Given the description of an element on the screen output the (x, y) to click on. 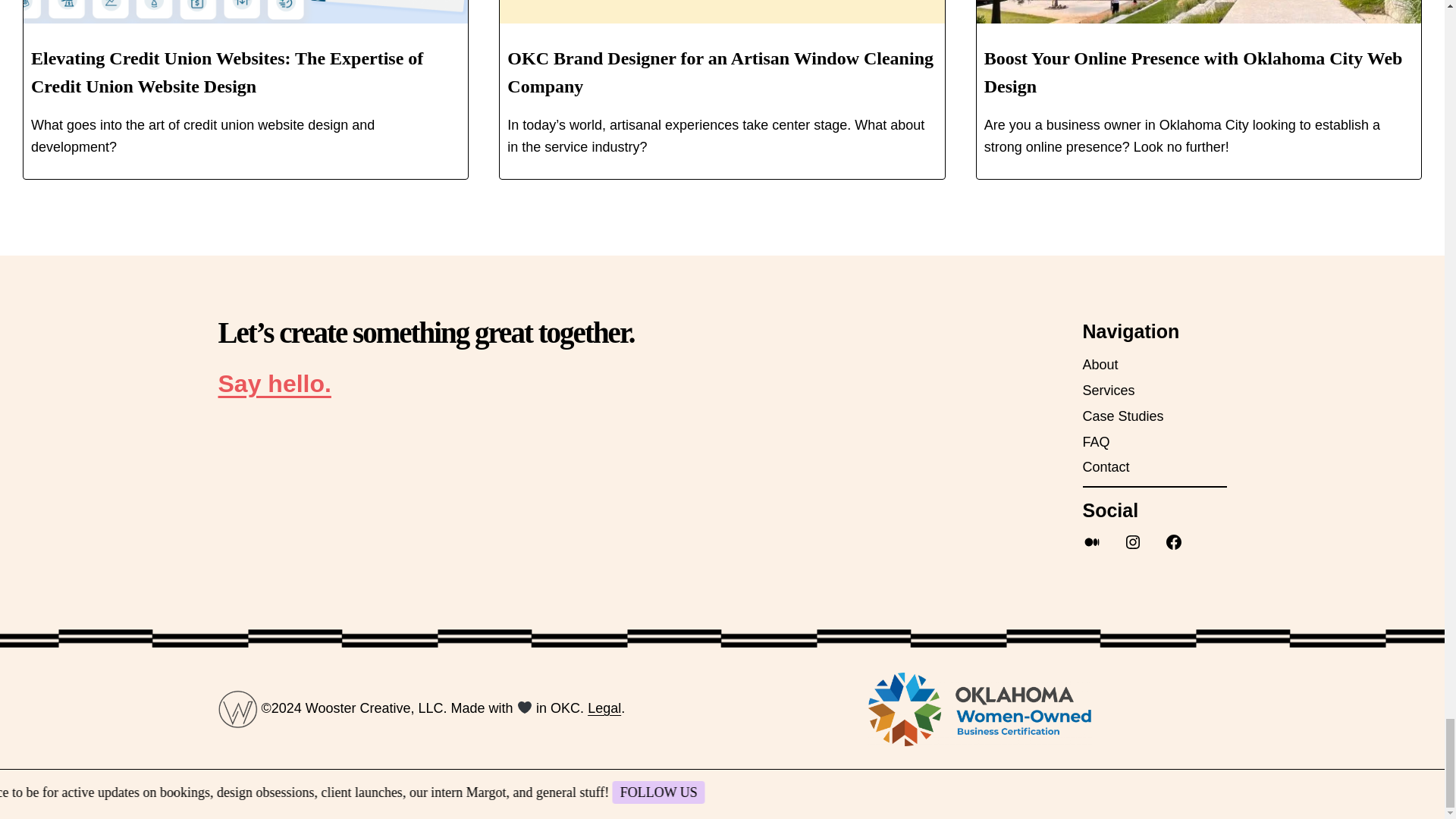
Say hello. (274, 383)
OKC Brand Designer for an Artisan Window Cleaning Company (719, 72)
About (1100, 364)
Boost Your Online Presence with Oklahoma City Web Design (1193, 72)
Services (1109, 391)
